Given the description of an element on the screen output the (x, y) to click on. 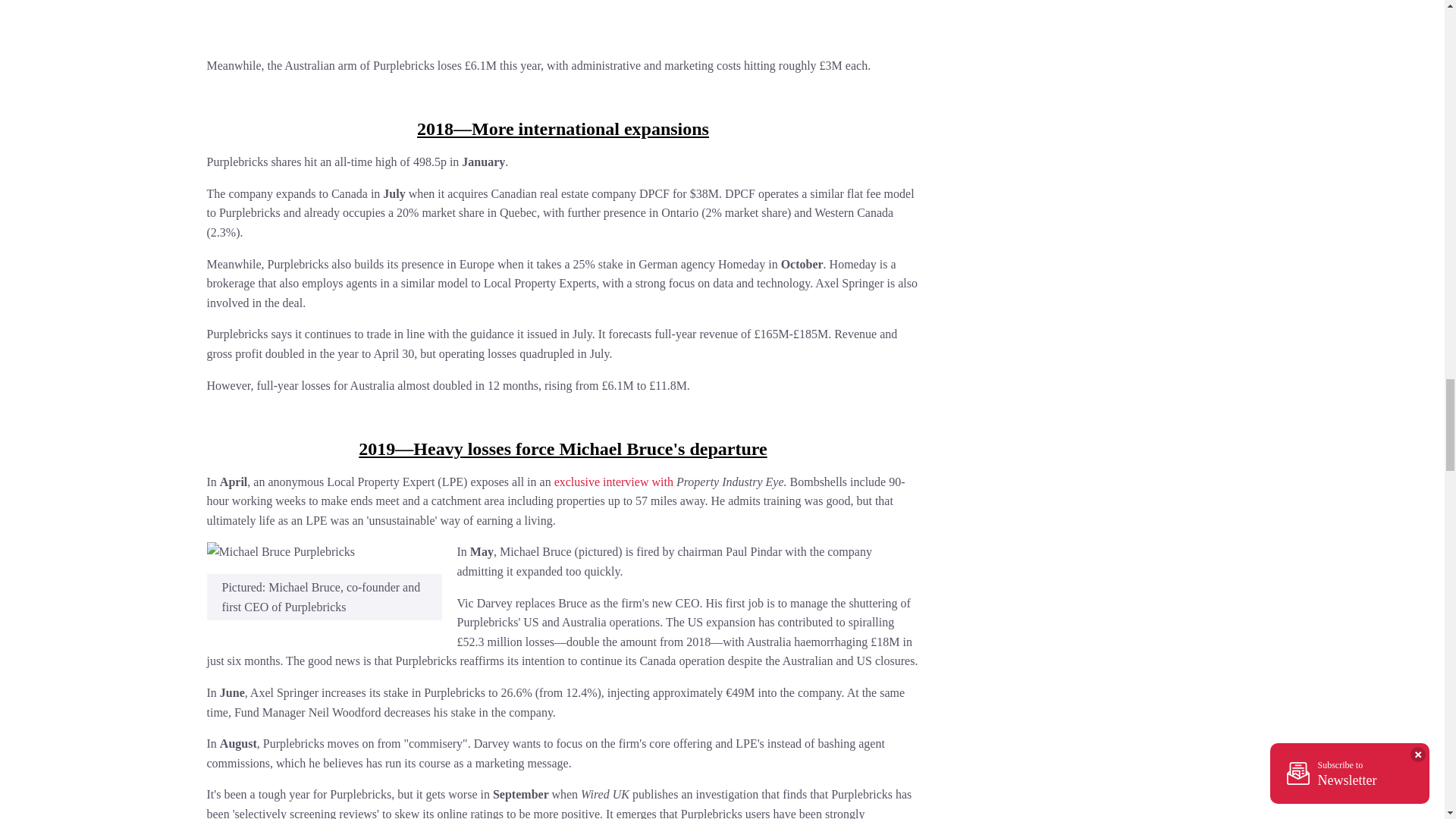
Purplebricks on Watchdog 02.08.17 (395, 19)
exclusive interview with (613, 481)
